Given the description of an element on the screen output the (x, y) to click on. 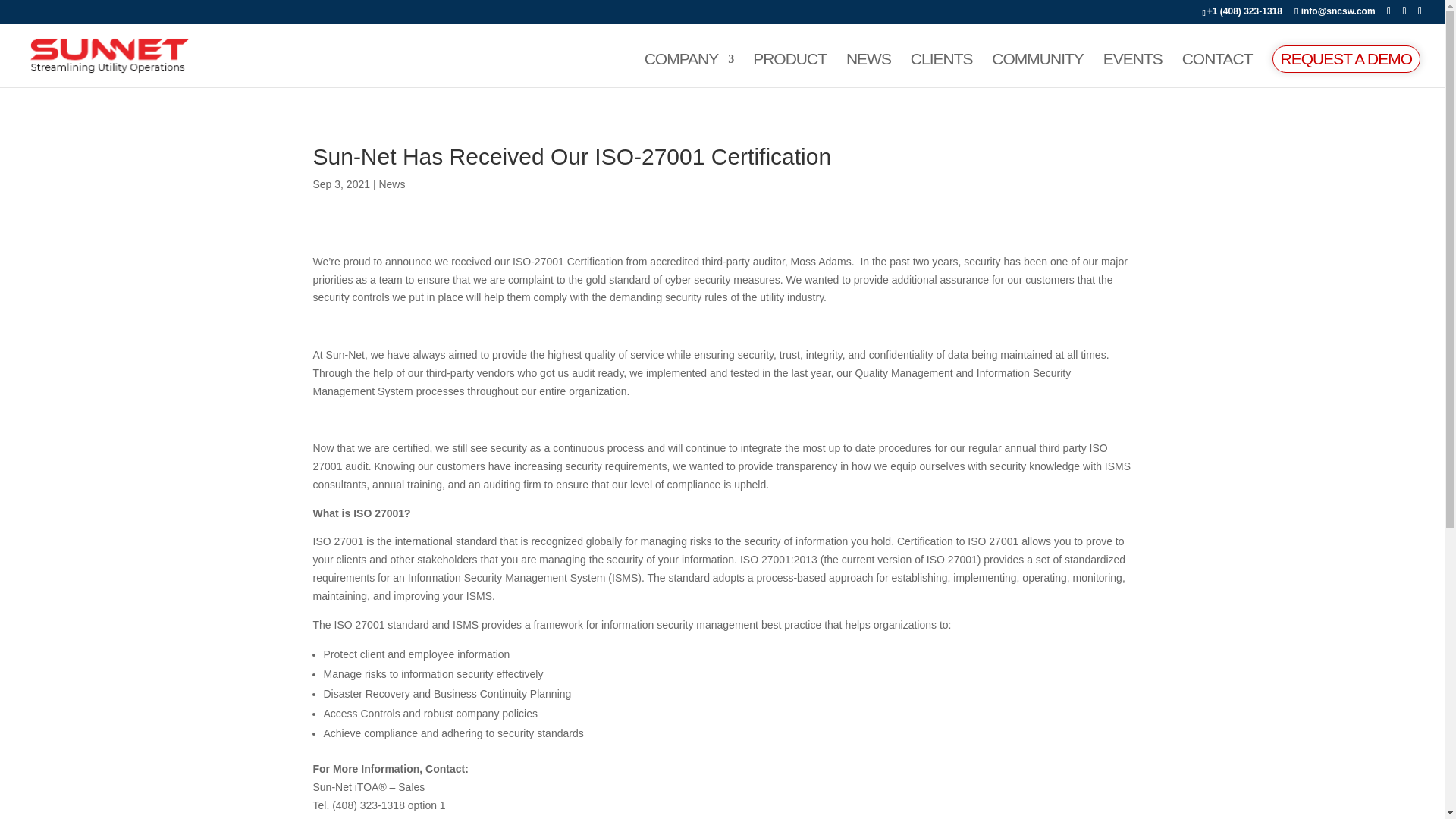
COMPANY (689, 70)
PRODUCT (789, 70)
CONTACT (1217, 70)
REQUEST A DEMO (1346, 58)
News (391, 184)
NEWS (868, 70)
EVENTS (1132, 70)
COMMUNITY (1037, 70)
CLIENTS (941, 70)
